Given the description of an element on the screen output the (x, y) to click on. 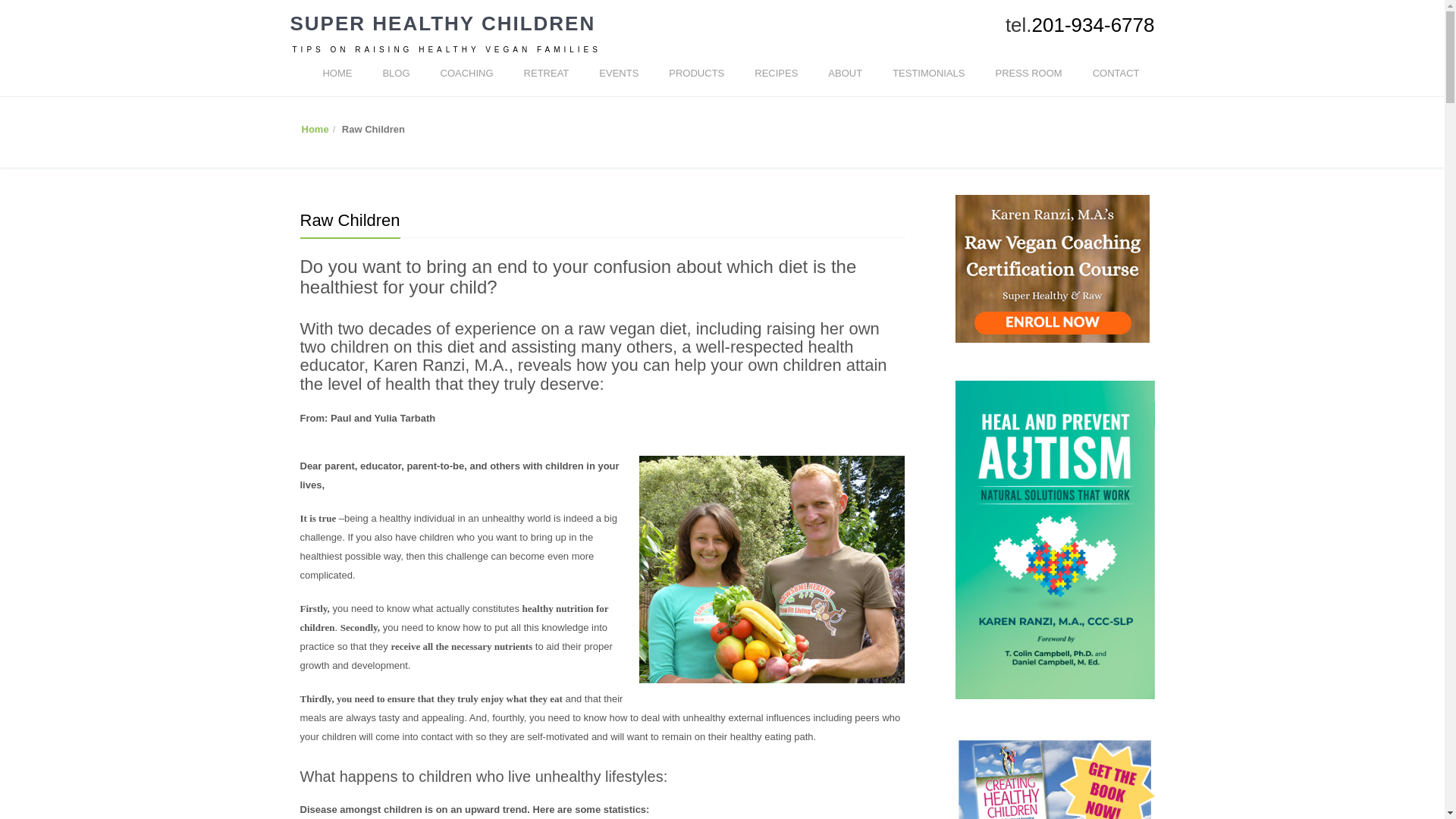
PRODUCTS (696, 73)
EVENTS (618, 73)
Raw Children (349, 220)
TESTIMONIALS (928, 73)
SUPER HEALTHY CHILDREN (443, 22)
BLOG (395, 73)
COACHING (466, 73)
RECIPES (775, 73)
PRESS ROOM (1028, 73)
TIPS ON RAISING HEALTHY VEGAN FAMILIES (445, 49)
Home (315, 129)
201-934-6778 (1093, 24)
ABOUT (844, 73)
HOME (336, 73)
CONTACT (1115, 73)
